Given the description of an element on the screen output the (x, y) to click on. 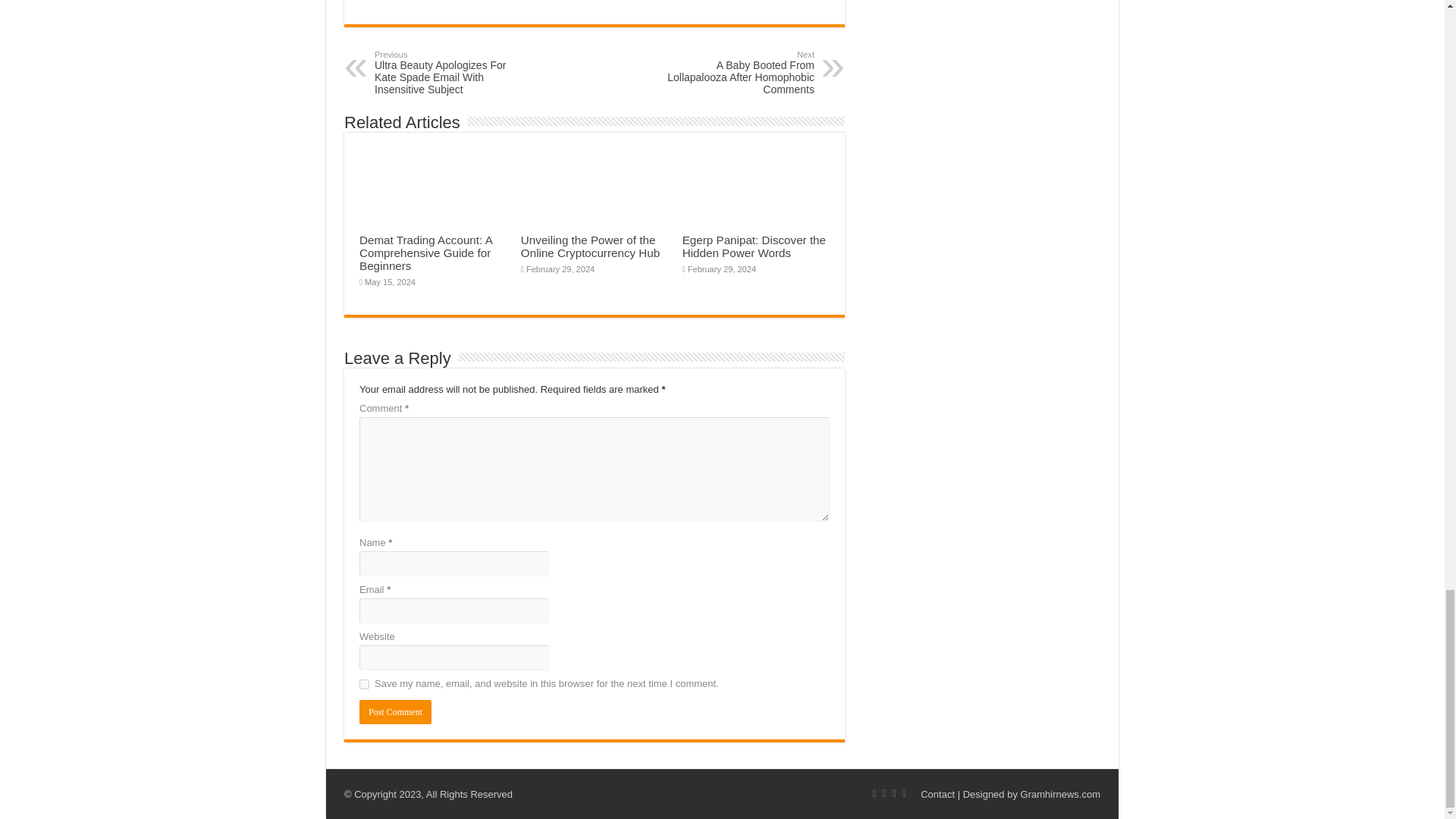
Post Comment (394, 711)
yes (364, 684)
